Given the description of an element on the screen output the (x, y) to click on. 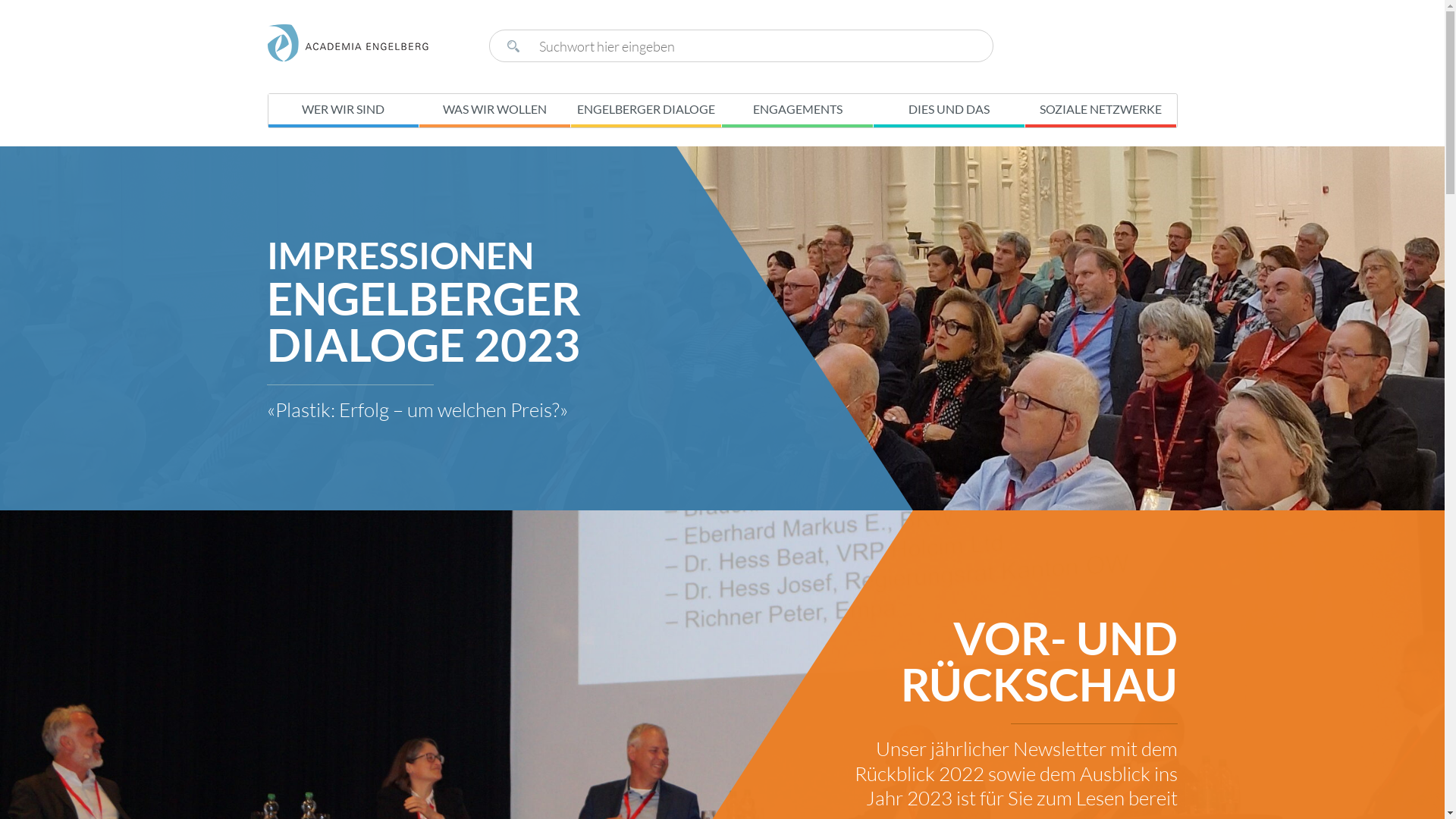
DIES UND DAS Element type: text (948, 110)
ENGAGEMENTS Element type: text (796, 110)
WAS WIR WOLLEN Element type: text (494, 110)
ENGELBERGER DIALOGE Element type: text (646, 110)
SOZIALE NETZWERKE Element type: text (1100, 110)
WER WIR SIND Element type: text (343, 110)
